Given the description of an element on the screen output the (x, y) to click on. 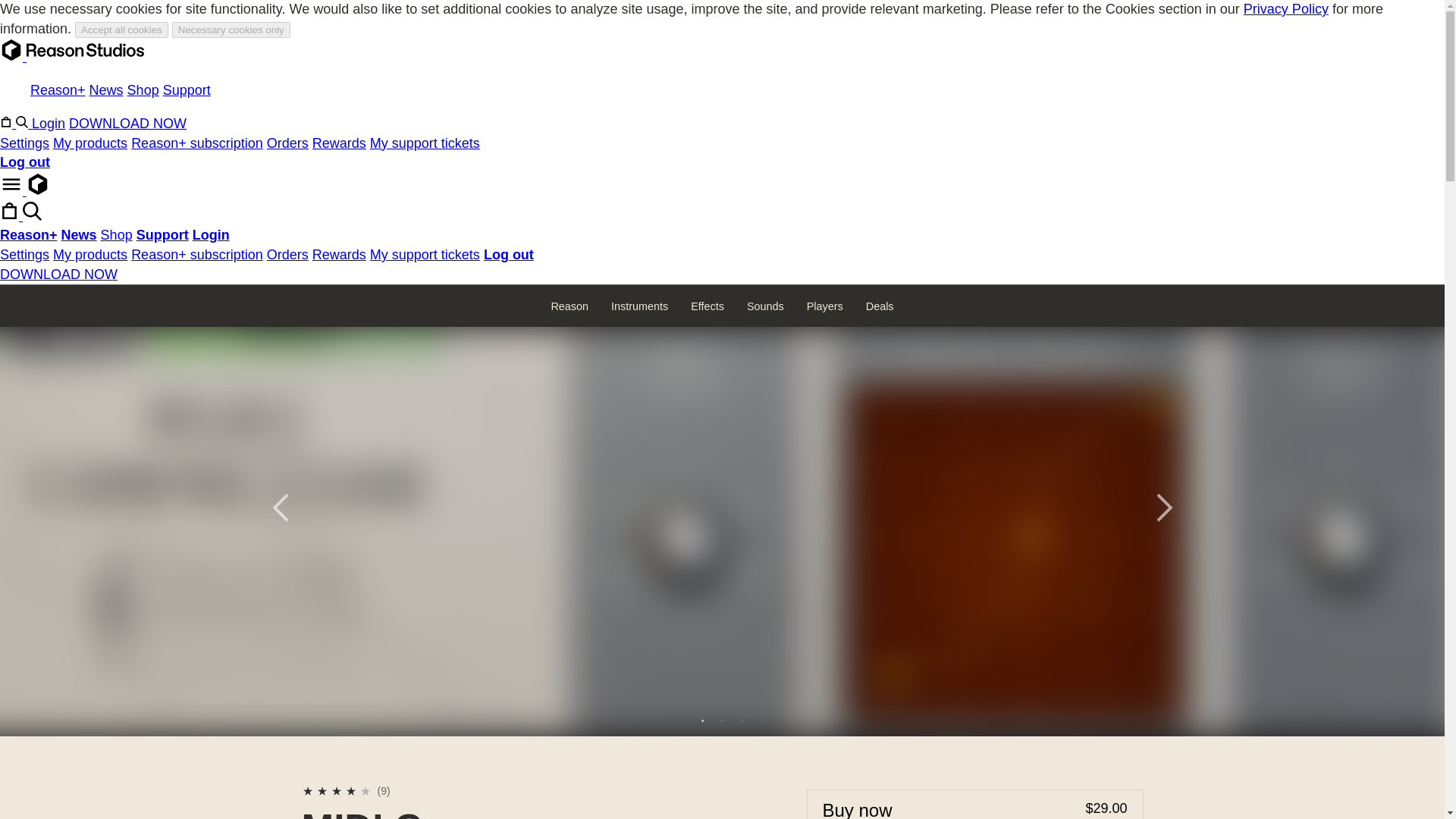
1 (308, 790)
2 (322, 790)
1 (702, 720)
Deals (879, 306)
5 (366, 790)
4 (350, 790)
3 (337, 790)
Sounds (764, 306)
Players (824, 306)
Reason (568, 306)
2 (721, 720)
3 (741, 720)
